Given the description of an element on the screen output the (x, y) to click on. 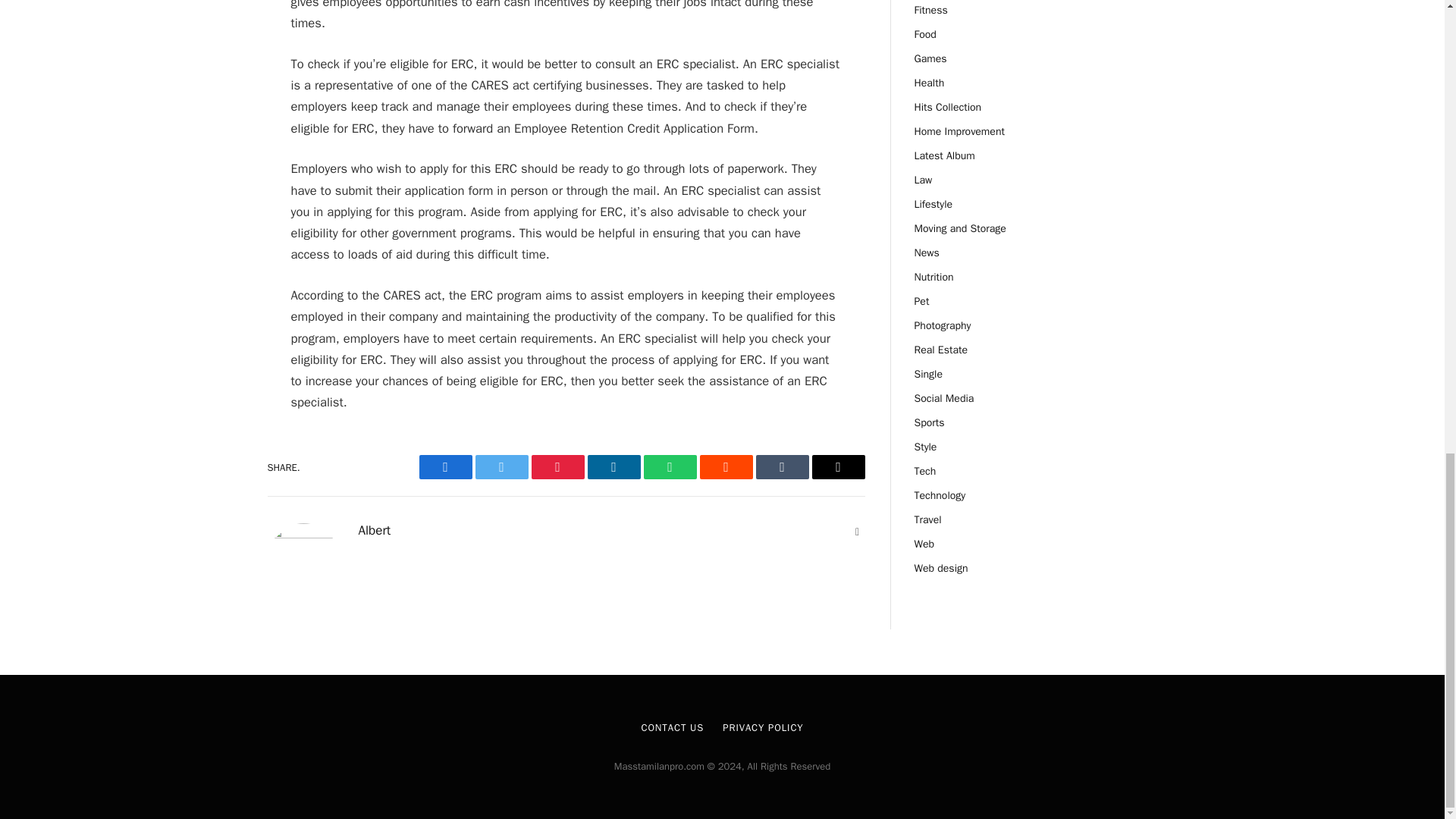
Albert (374, 530)
Pinterest (557, 467)
Website (856, 531)
Email (837, 467)
WhatsApp (669, 467)
Facebook (445, 467)
Share on Facebook (445, 467)
Tumblr (781, 467)
Reddit (725, 467)
LinkedIn (613, 467)
